Given the description of an element on the screen output the (x, y) to click on. 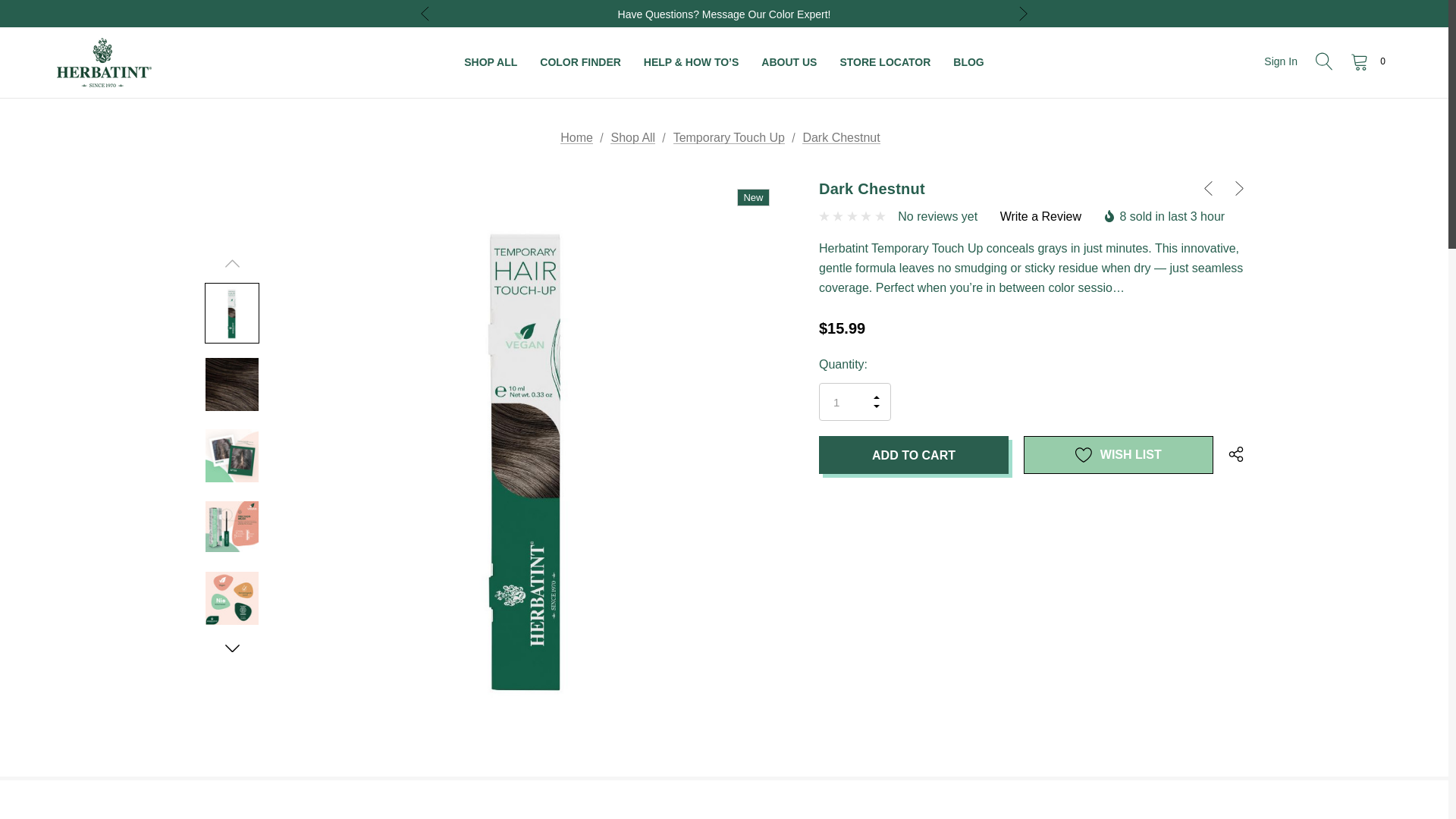
 Dark Chestnut  (232, 526)
Herbatint USA (103, 61)
STORE LOCATOR (885, 61)
0 (1365, 61)
 Dark Chestnut  (232, 455)
 Dark Chestnut  (232, 597)
 Dark Chestnut  (232, 312)
BLOG (968, 61)
Add to Cart (913, 454)
 Dark Chestnut  (232, 384)
1 (854, 401)
Sign In (1280, 61)
Have Questions? Message Our Color Expert! (724, 14)
ABOUT US (788, 61)
